Given the description of an element on the screen output the (x, y) to click on. 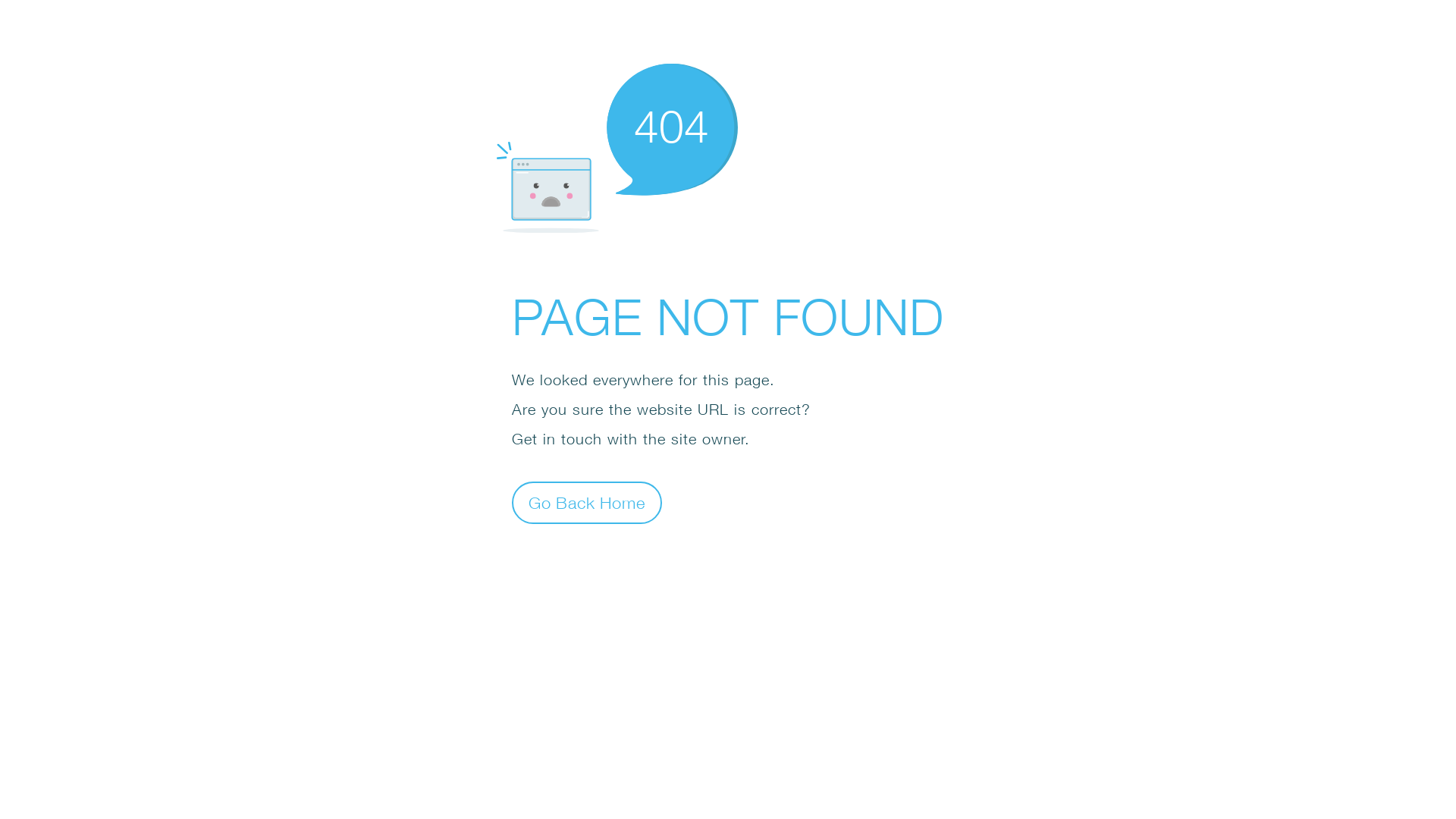
Go Back Home Element type: text (586, 502)
